Given the description of an element on the screen output the (x, y) to click on. 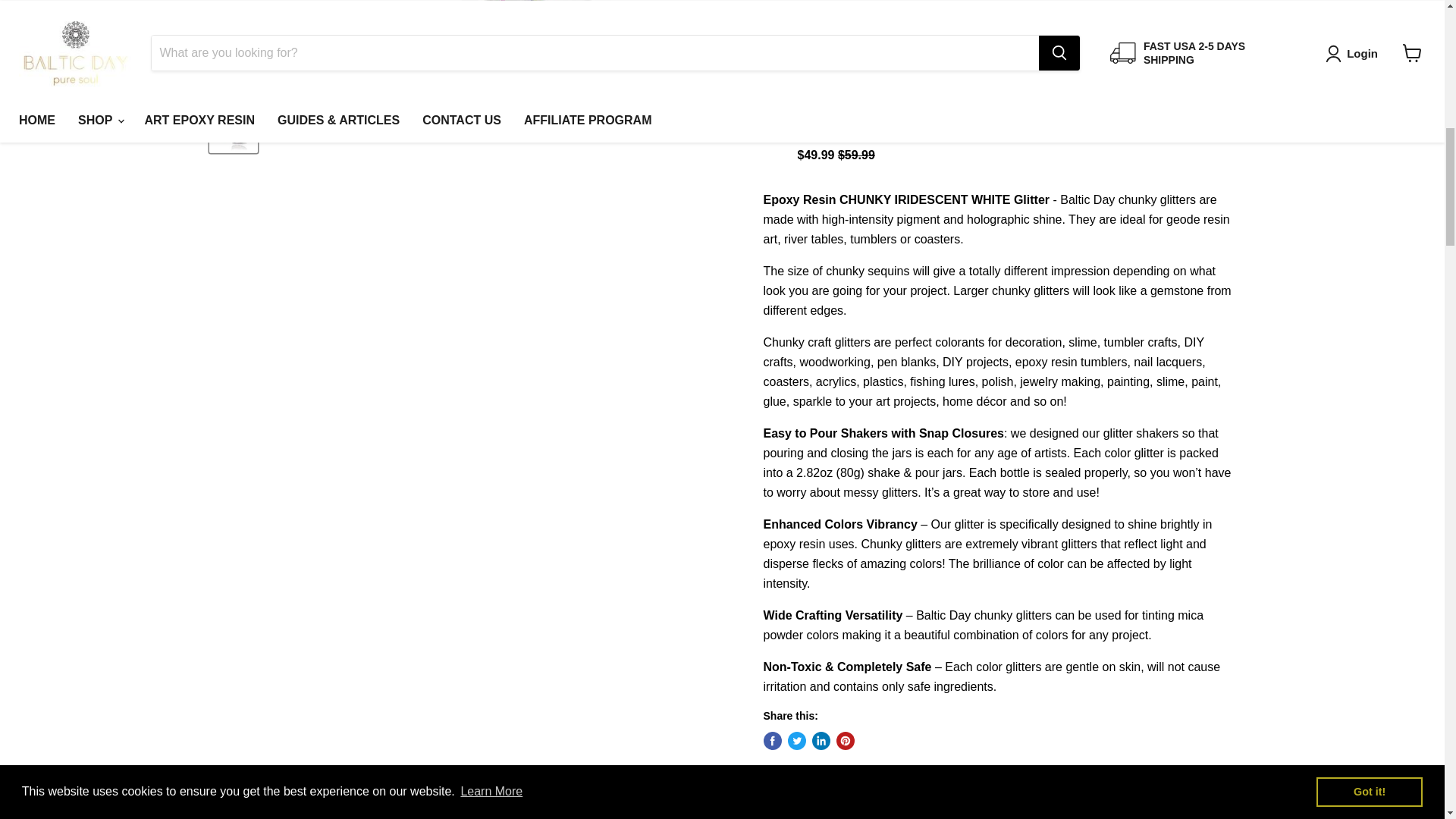
31857884037187 (782, 122)
31435486396483 (782, 40)
